Given the description of an element on the screen output the (x, y) to click on. 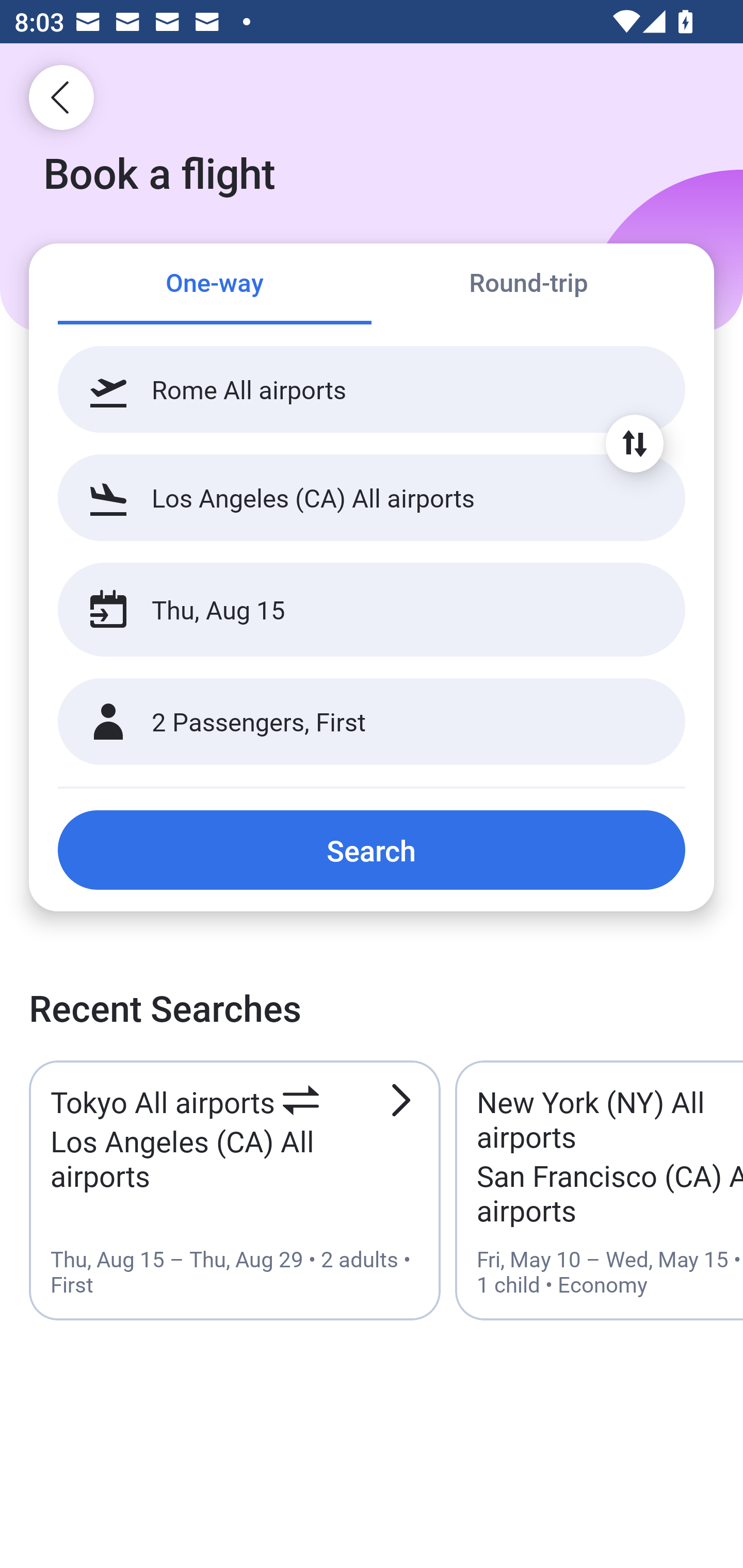
Round-trip (528, 284)
Rome All airports (371, 389)
Los Angeles (CA) All airports (371, 497)
Thu, Aug 15 (349, 609)
2 Passengers, First (371, 721)
Search (371, 849)
